Given the description of an element on the screen output the (x, y) to click on. 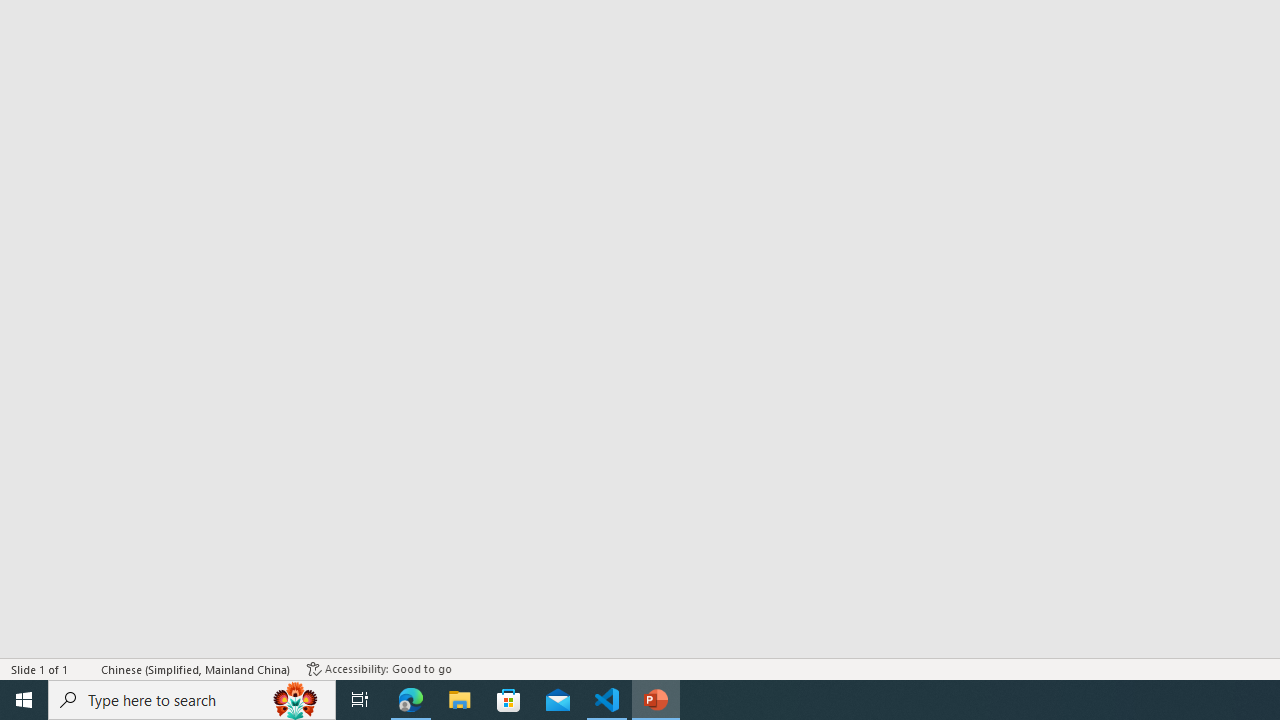
Spell Check  (86, 668)
